Given the description of an element on the screen output the (x, y) to click on. 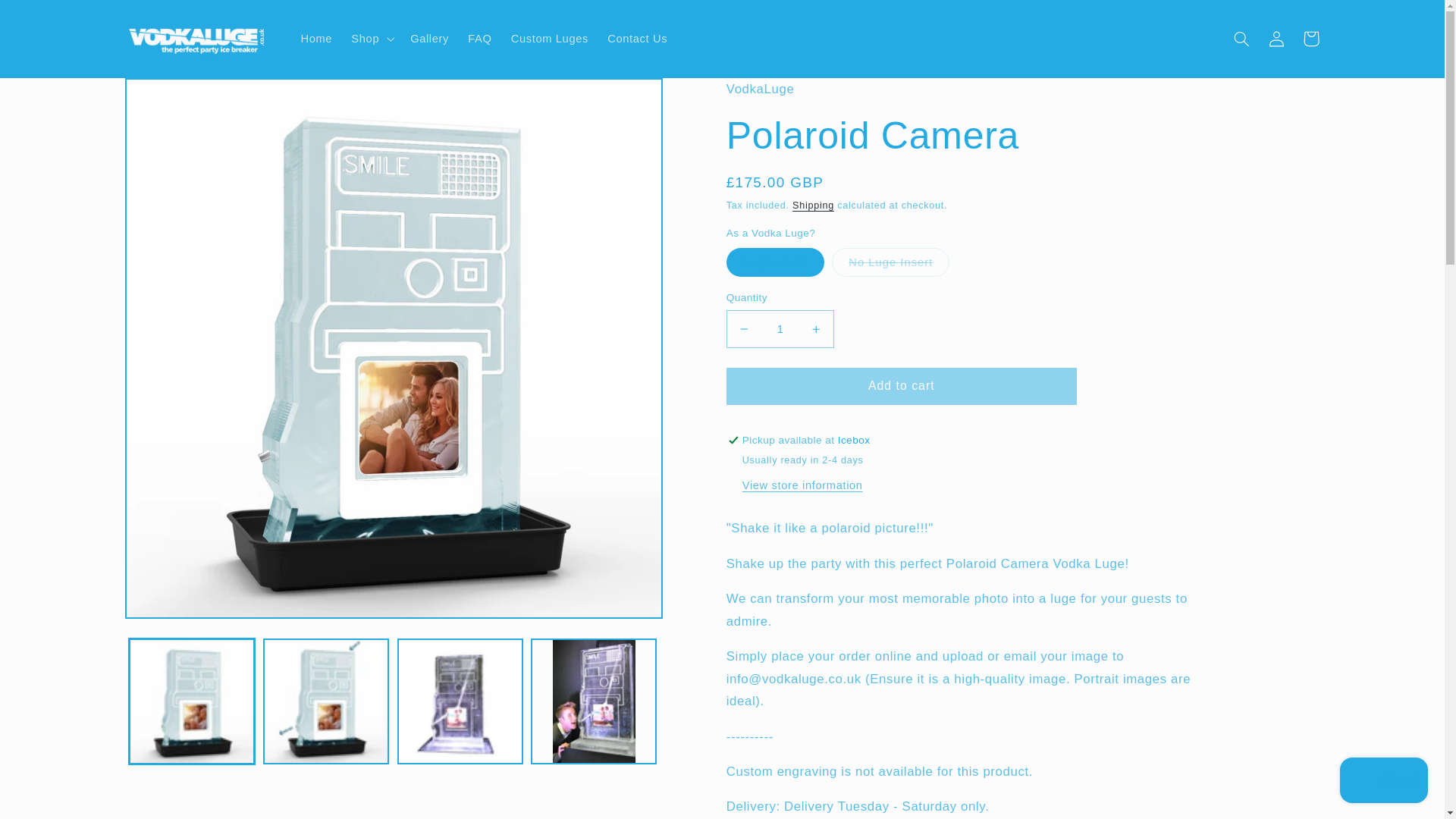
Skip to content (48, 18)
Home (316, 39)
1 (780, 328)
Shopify online store chat (1383, 781)
